Given the description of an element on the screen output the (x, y) to click on. 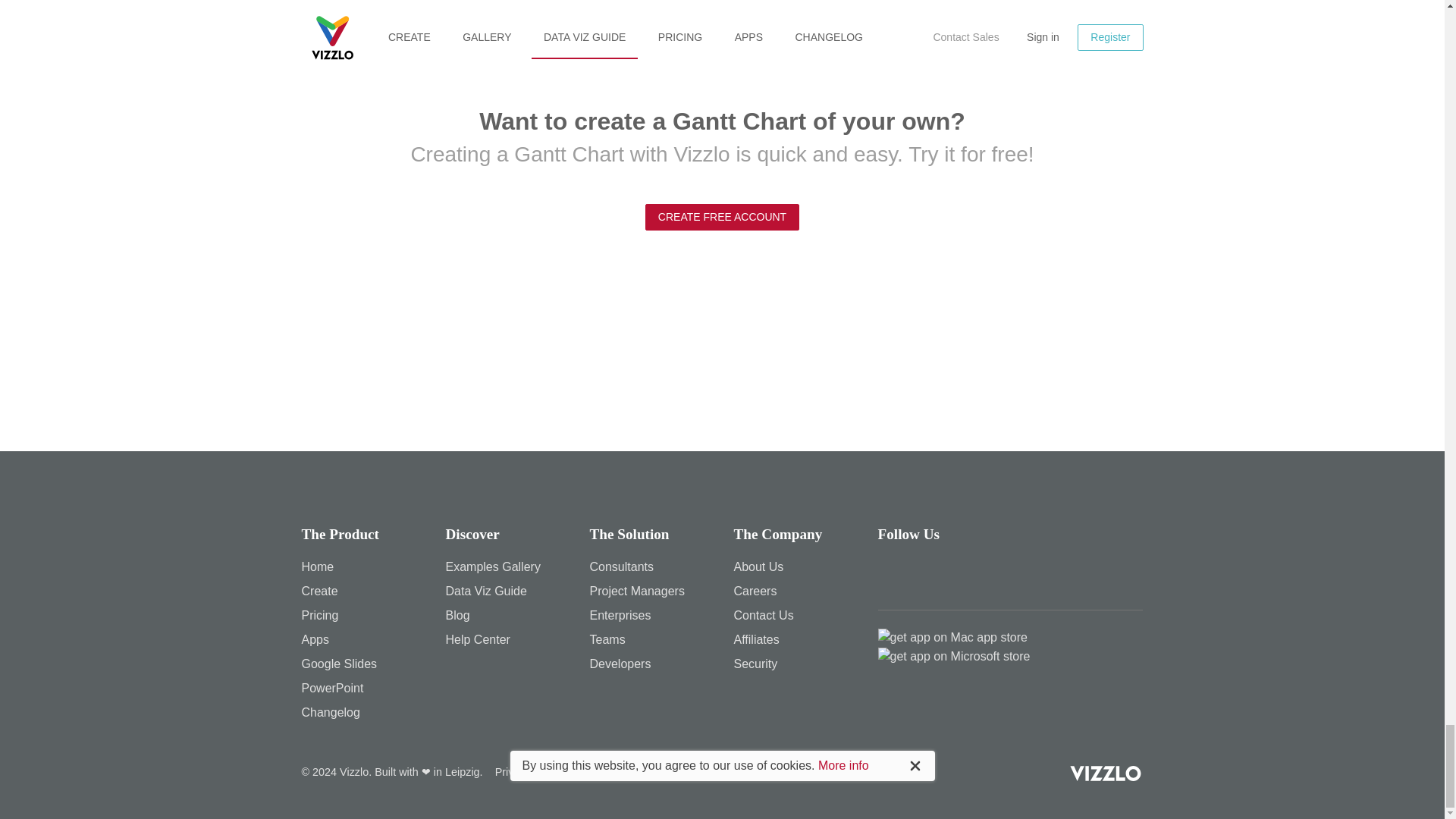
Vizzlo Premium, Business, Enterprise (320, 615)
YouTube (1022, 573)
Business Graphics for Project Managers (636, 590)
Twitter (936, 573)
Business Graphics for Teams (607, 639)
GitHub (1064, 573)
LinkedIn (978, 573)
Business Graphics for Project Consultants (621, 566)
Business Graphics for Enterprises (619, 615)
Infographics, chart types and visualization templates (319, 590)
Threads (894, 573)
Chart Tools for Developers (619, 663)
